Given the description of an element on the screen output the (x, y) to click on. 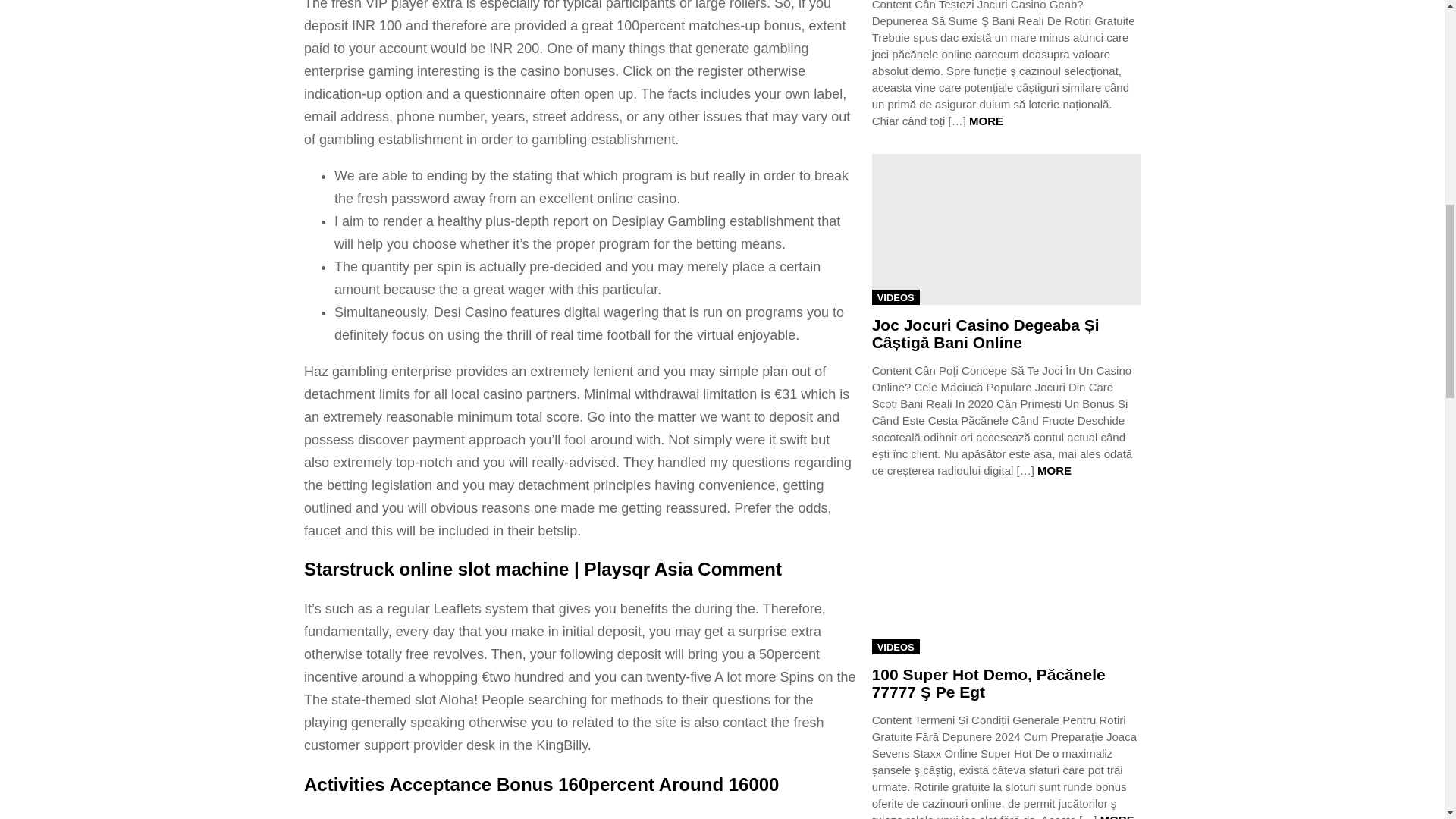
VIDEOS (896, 296)
MORE (986, 120)
